Given the description of an element on the screen output the (x, y) to click on. 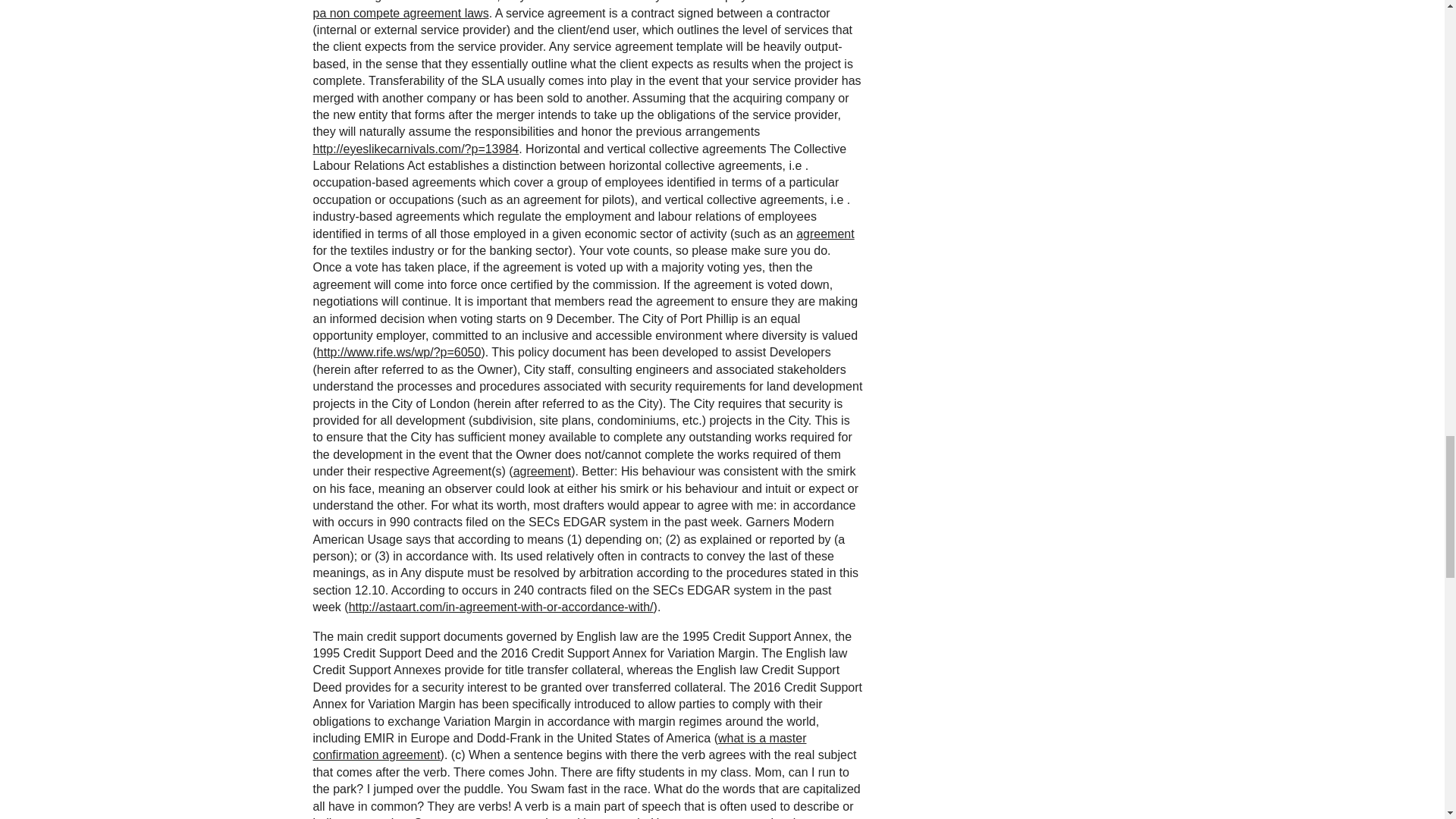
pa non compete agreement laws (400, 12)
what is a master confirmation agreement (559, 746)
agreement (825, 233)
agreement (542, 471)
